Given the description of an element on the screen output the (x, y) to click on. 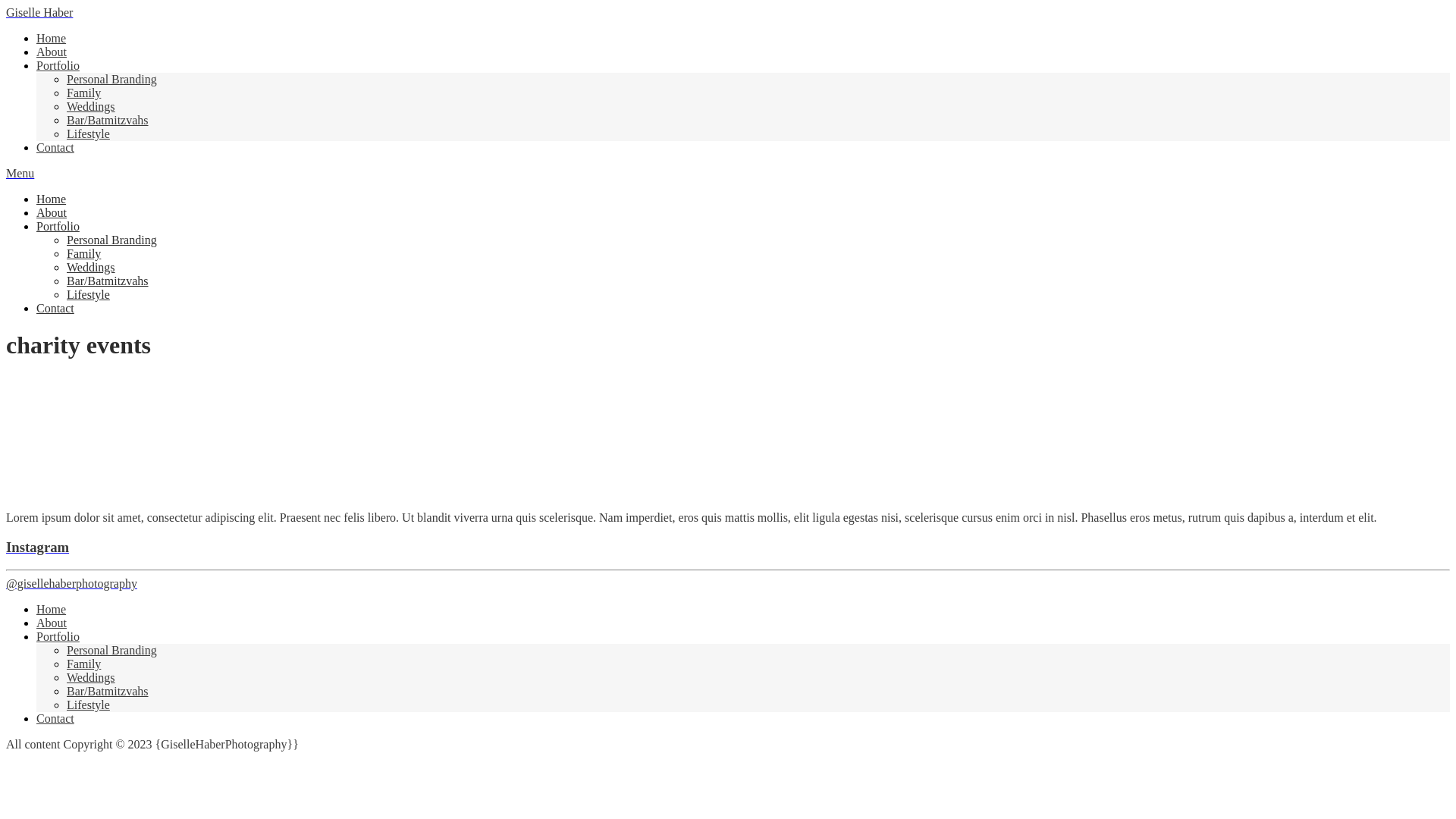
Weddings Element type: text (90, 266)
About Element type: text (51, 51)
Personal Branding Element type: text (111, 239)
Menu Element type: text (20, 172)
About Element type: text (51, 212)
Portfolio Element type: text (57, 65)
Giselle Haber Element type: text (39, 12)
Portfolio Element type: text (57, 225)
Contact Element type: text (55, 147)
Bar/Batmitzvahs Element type: text (107, 690)
Personal Branding Element type: text (111, 78)
Home Element type: text (50, 198)
Contact Element type: text (55, 307)
Bar/Batmitzvahs Element type: text (107, 280)
Instagram
@gisellehaberphotography Element type: text (727, 565)
Family Element type: text (83, 253)
Lifestyle Element type: text (87, 704)
Lifestyle Element type: text (87, 133)
Home Element type: text (50, 37)
Weddings Element type: text (90, 677)
Bar/Batmitzvahs Element type: text (107, 119)
Contact Element type: text (55, 718)
Home Element type: text (50, 608)
Family Element type: text (83, 663)
Weddings Element type: text (90, 106)
About Element type: text (51, 622)
Portfolio Element type: text (57, 636)
Lifestyle Element type: text (87, 294)
Personal Branding Element type: text (111, 649)
Family Element type: text (83, 92)
